Given the description of an element on the screen output the (x, y) to click on. 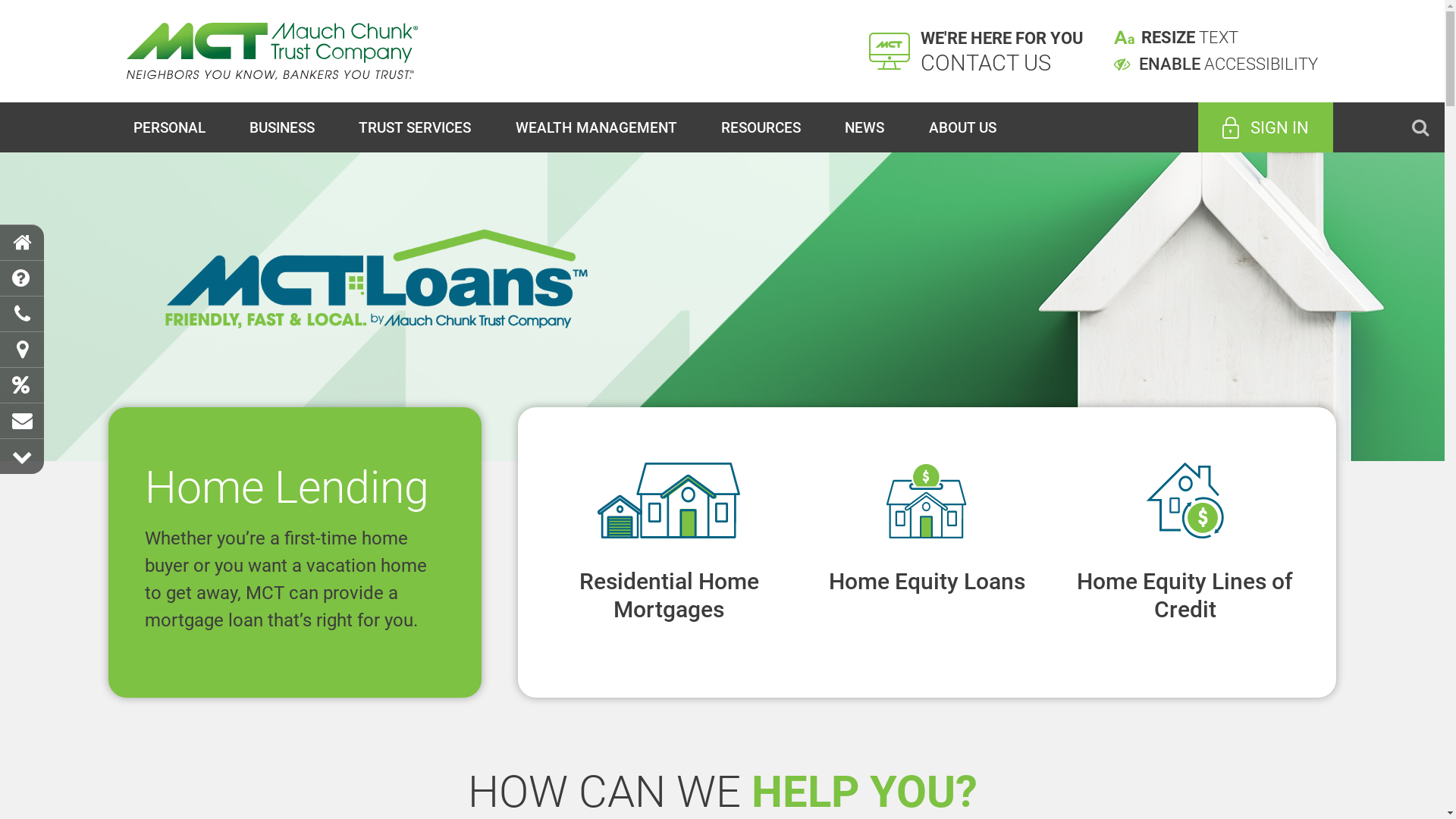
WE'RE HERE FOR YOU
CONTACT US Element type: text (976, 51)
Search Button Element type: text (1419, 127)
Locations Element type: text (21, 349)
Actual Link Element type: text (1184, 552)
Home Element type: text (21, 242)
TRUST SERVICES Element type: text (414, 127)
NEWS Element type: text (864, 127)
Contact Us Element type: text (21, 314)
SIGN IN Element type: text (1265, 127)
Actual Link Element type: text (668, 552)
ENABLE ACCESSIBILITY Element type: text (1215, 63)
Rates Element type: text (21, 385)
WEALTH MANAGEMENT Element type: text (596, 127)
Actual Link Element type: text (926, 552)
Next section Element type: text (21, 456)
Email Element type: text (21, 421)
RESIZE TEXT Element type: text (1189, 37)
